Given the description of an element on the screen output the (x, y) to click on. 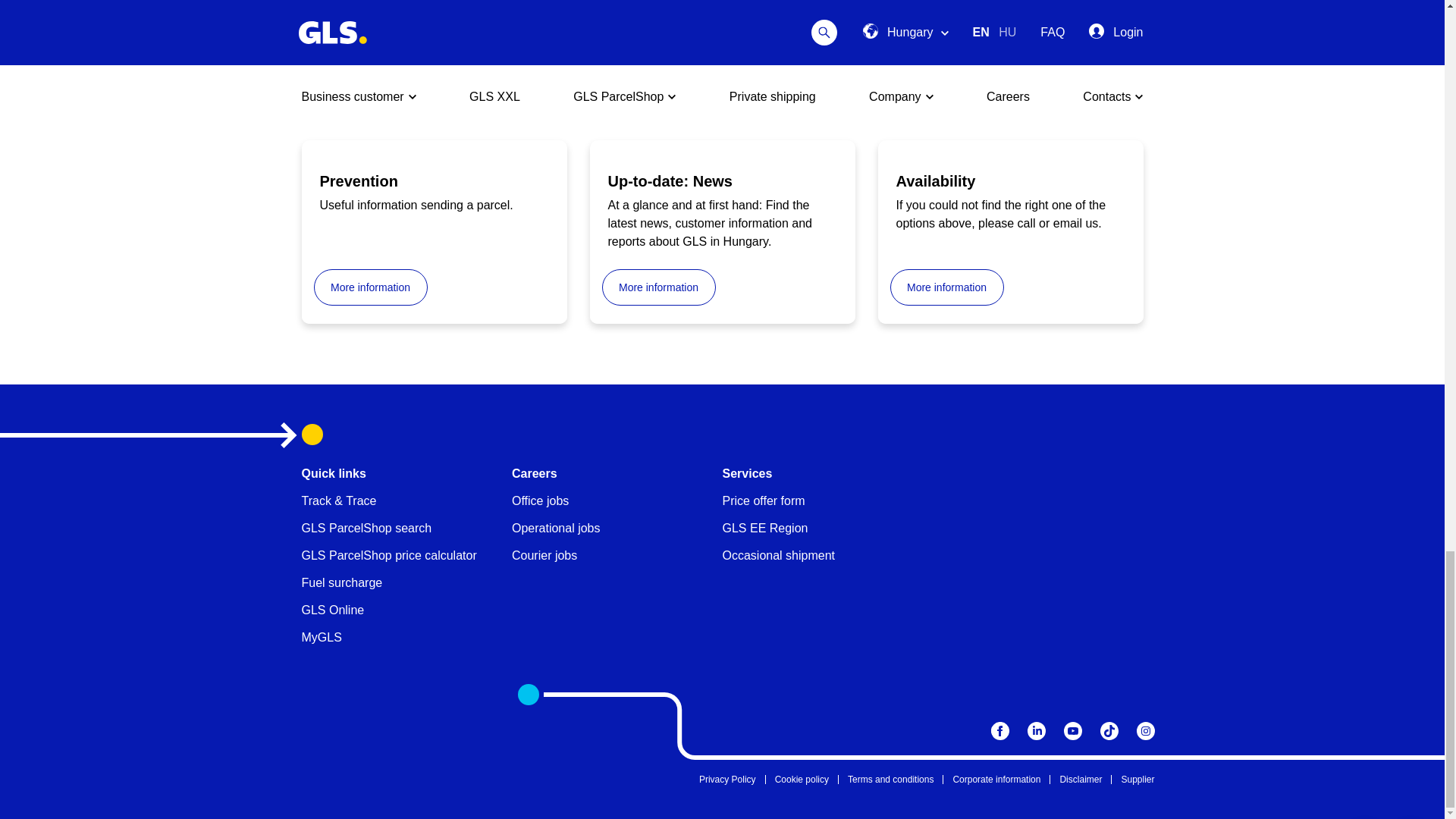
facebook (999, 730)
GLS Hungary TikTok (1108, 730)
GLS Hungary YouTube (1071, 730)
GLS Hungary Instagram (1144, 730)
GLS Hungary LinkedIn (1035, 730)
